Given the description of an element on the screen output the (x, y) to click on. 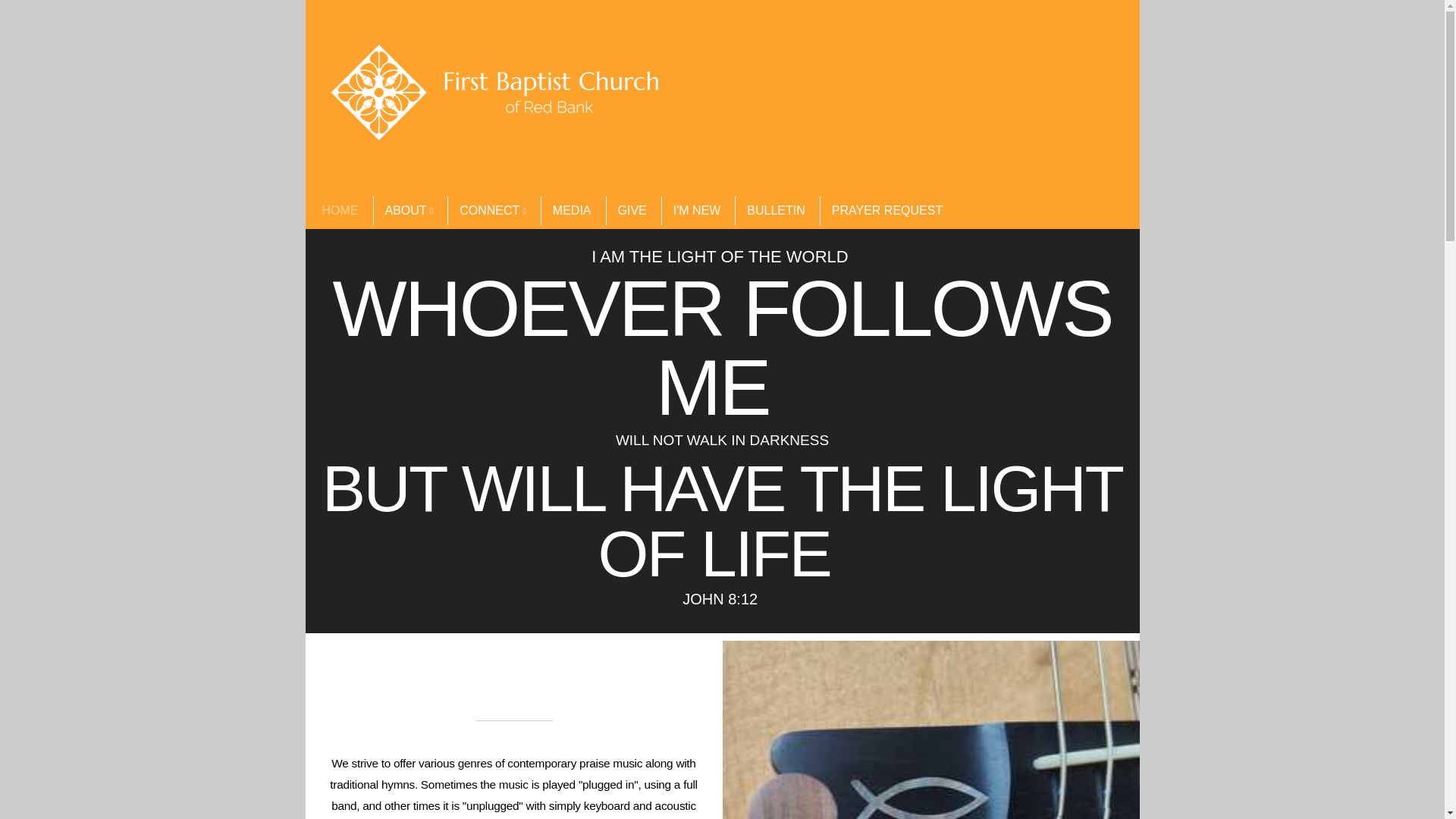
ABOUT  (408, 210)
CONNECT  (491, 210)
MEDIA (571, 210)
BULLETIN (775, 210)
HOME (340, 210)
I'M NEW (696, 210)
PRAYER REQUEST (886, 210)
GIVE (631, 210)
